Given the description of an element on the screen output the (x, y) to click on. 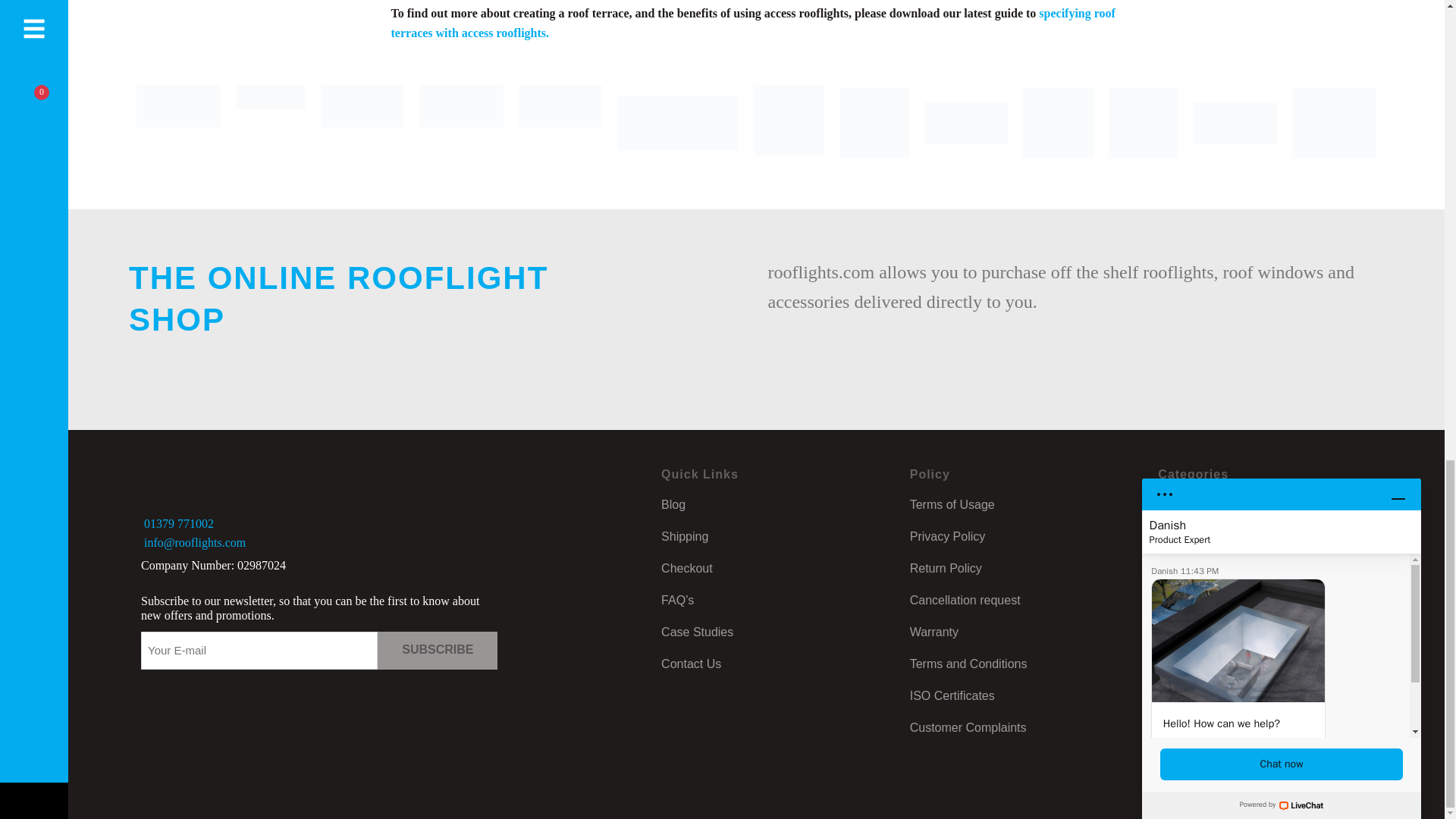
Fakro Logo (461, 122)
Velux Logo (270, 122)
CRASH Charity (789, 122)
Glazing Vision Logo (178, 122)
Sona Logo (560, 122)
Korniche Logo (362, 122)
